Given the description of an element on the screen output the (x, y) to click on. 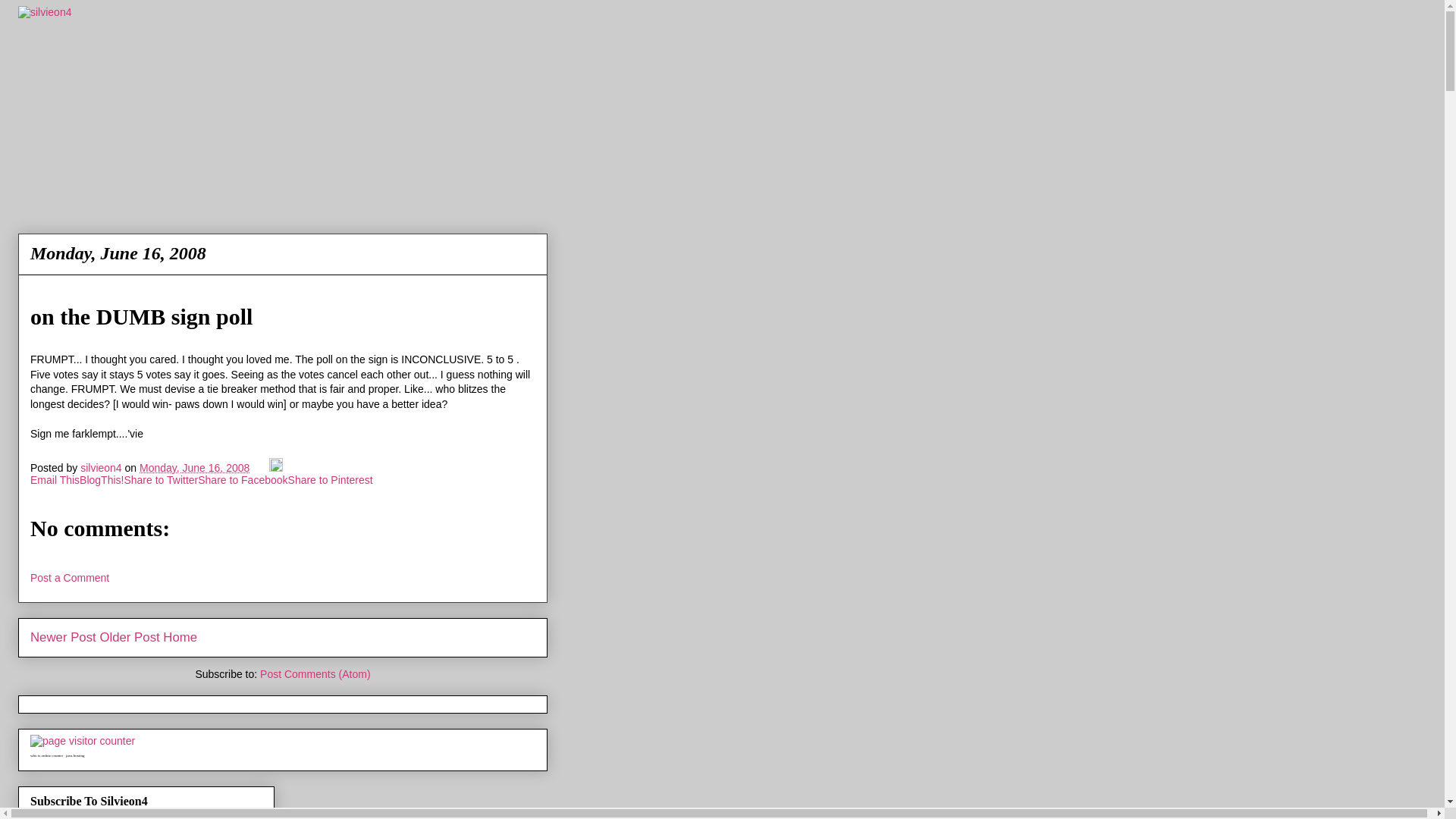
Post a Comment (69, 577)
Email This (55, 480)
Home (179, 636)
Email Post (260, 467)
Email This (55, 480)
Older Post (128, 636)
Share to Pinterest (330, 480)
Share to Twitter (160, 480)
Monday, June 16, 2008 (193, 467)
BlogThis! (101, 480)
Share to Facebook (242, 480)
silvieon4 (101, 467)
Share to Pinterest (330, 480)
java hosting (74, 755)
who is online counter (46, 755)
